Given the description of an element on the screen output the (x, y) to click on. 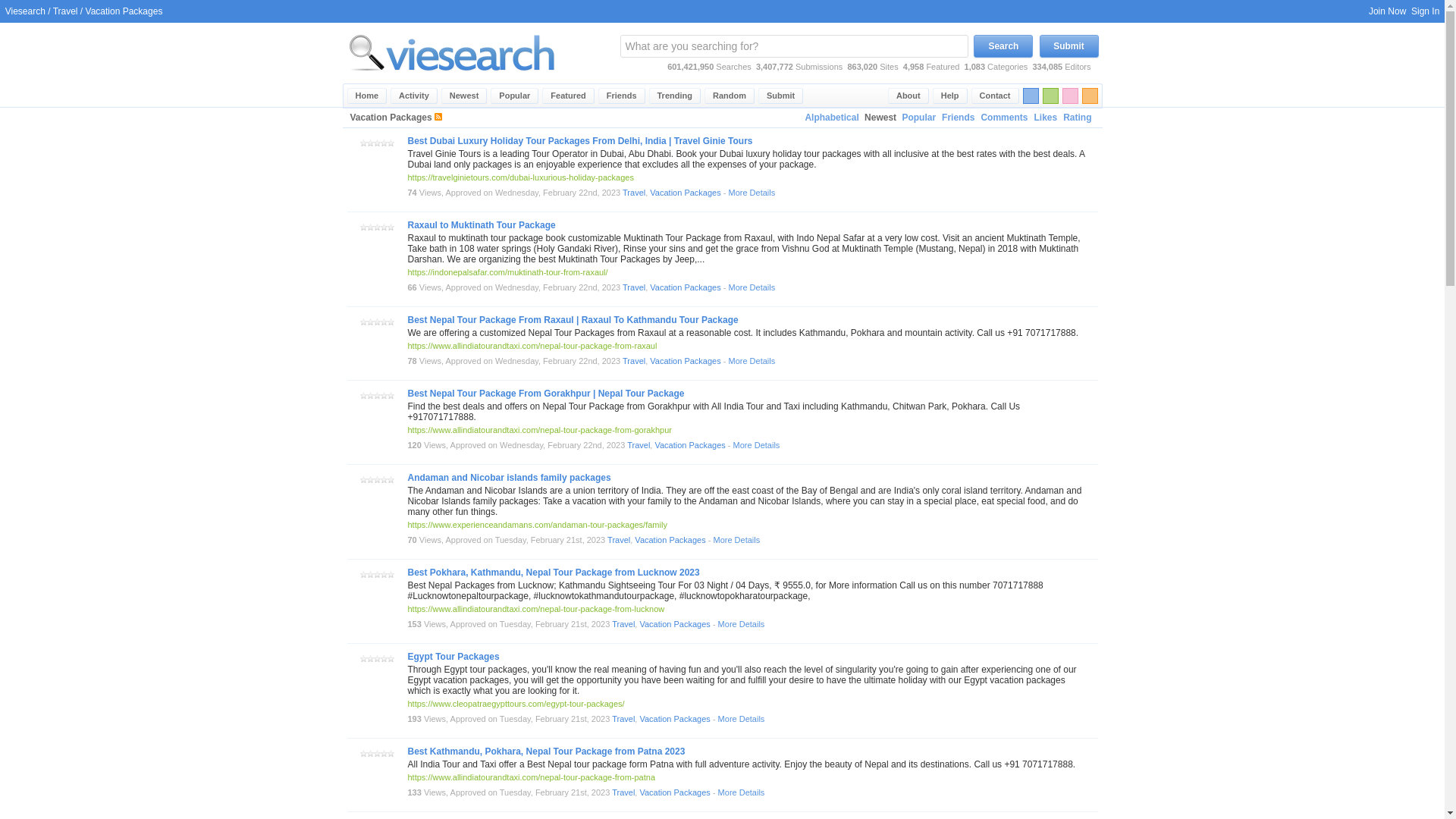
What are you searching for? (794, 46)
Trending search keywords on Viesearch (674, 95)
Alphabetical (831, 117)
Home (367, 95)
Sign In (1424, 10)
Some of our Lastest Referrers (621, 95)
The top 50 most viewed sites in Viesearch (514, 95)
Random (729, 95)
Switch this page to orange (1089, 95)
Recent social activity (414, 95)
Join Now (1387, 10)
About (908, 95)
Popular (918, 117)
Viesearch - Human Powered Search Engine (452, 52)
Help (950, 95)
